Given the description of an element on the screen output the (x, y) to click on. 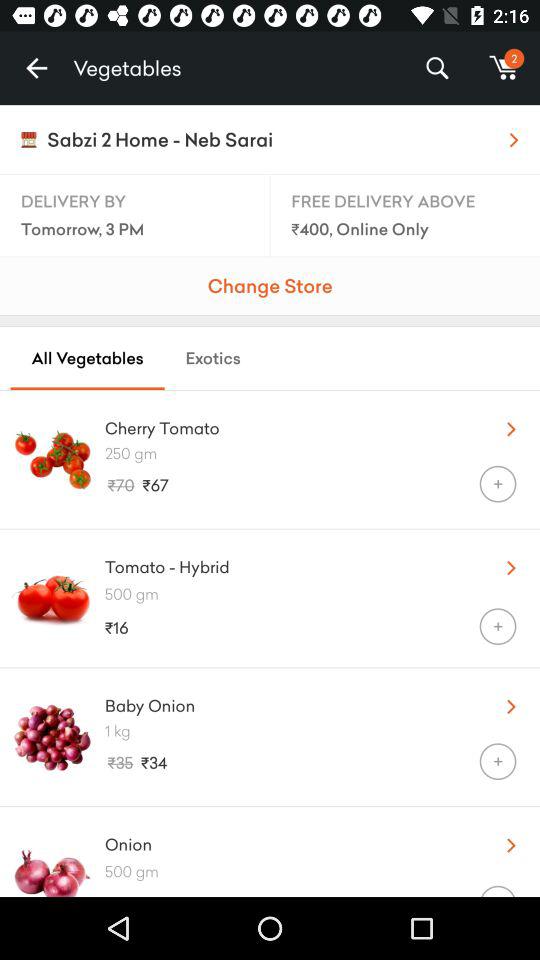
click 1 kg icon (322, 730)
